Given the description of an element on the screen output the (x, y) to click on. 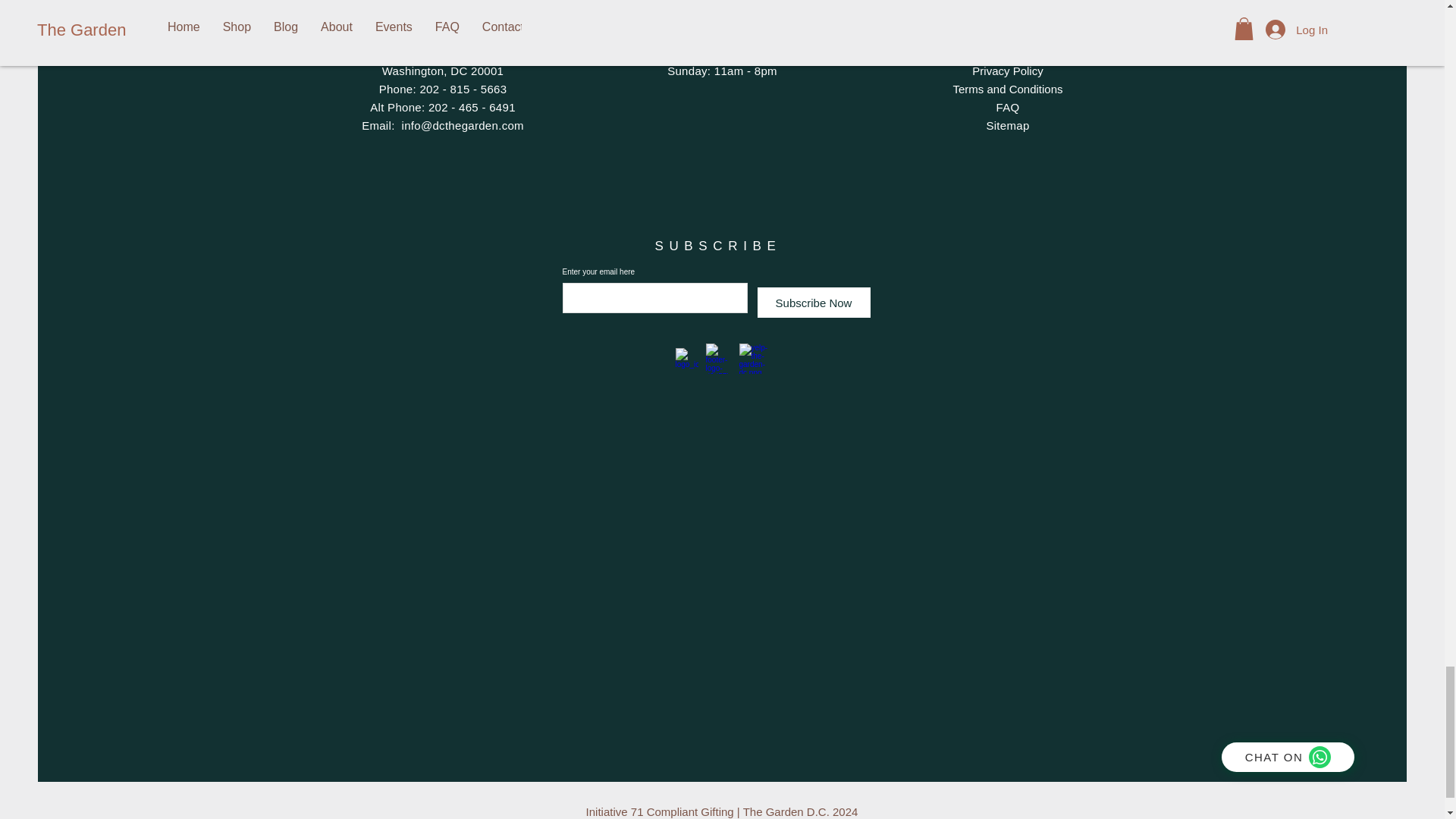
1541 New Jersey Ave NW (467, 42)
